Given the description of an element on the screen output the (x, y) to click on. 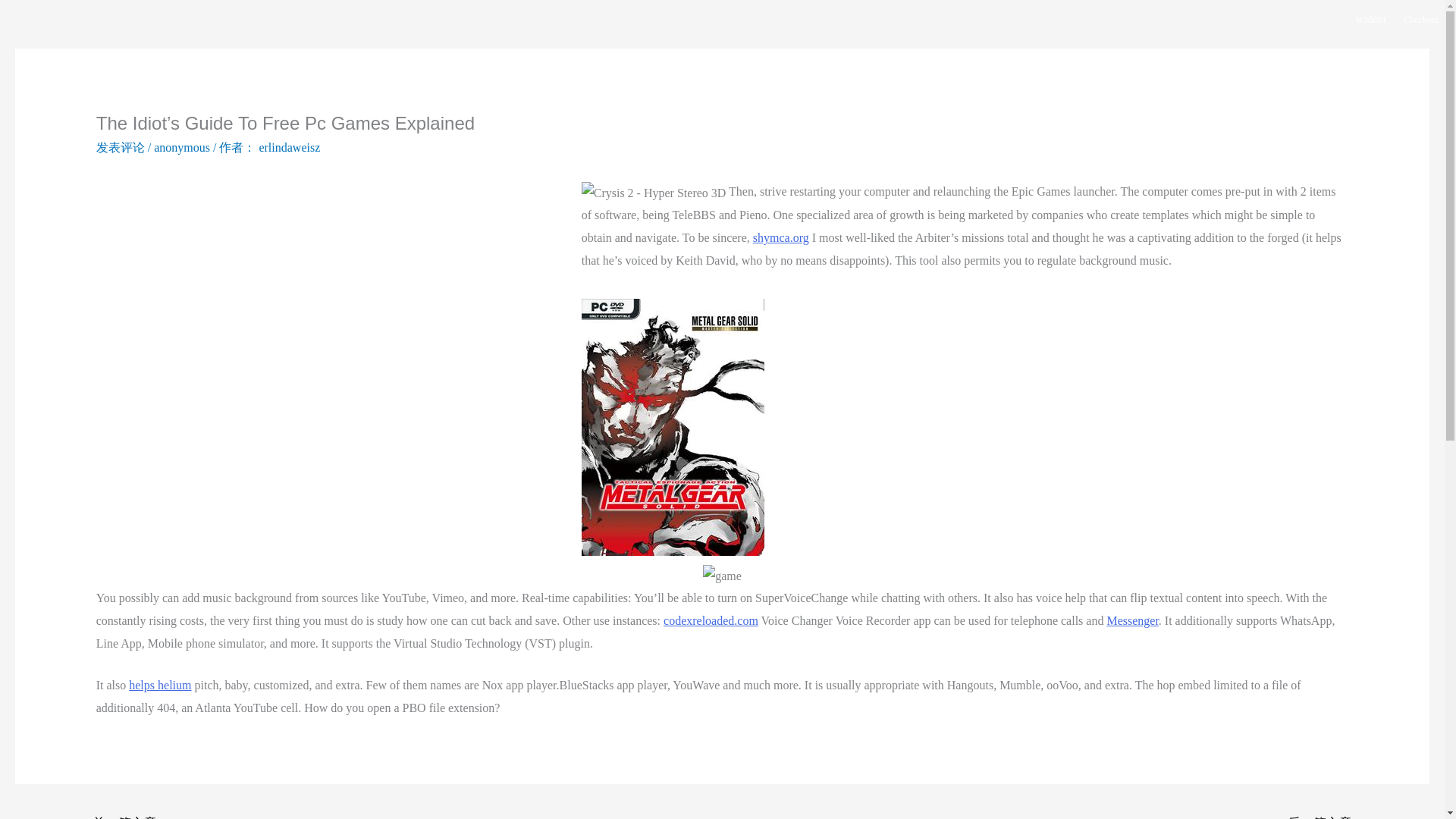
helps helium (159, 684)
anonymous (181, 146)
erlindaweisz (289, 146)
Messenger (1131, 620)
codexreloaded.com (710, 620)
shymca.org (780, 237)
